Given the description of an element on the screen output the (x, y) to click on. 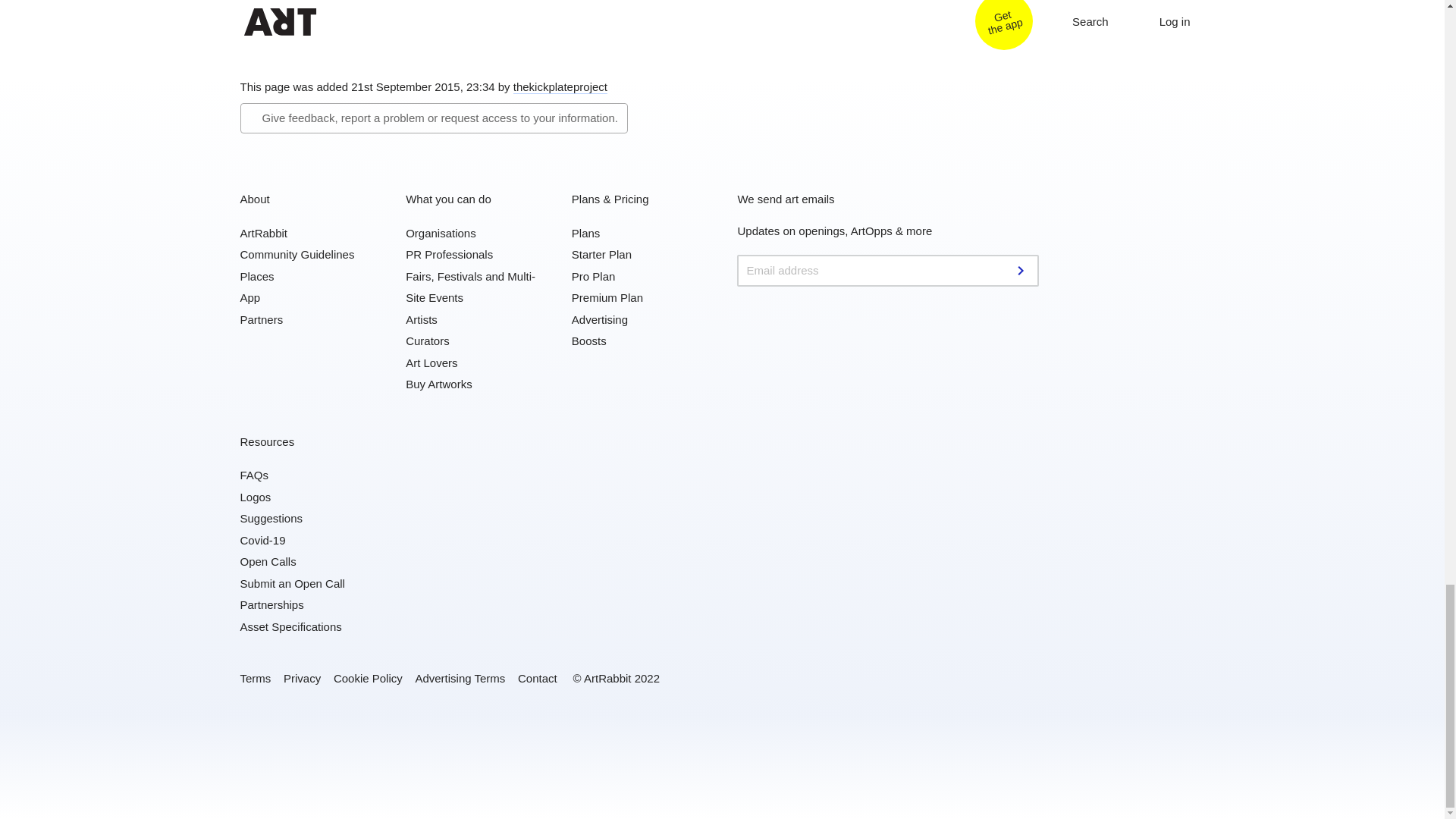
submit (1021, 270)
